Given the description of an element on the screen output the (x, y) to click on. 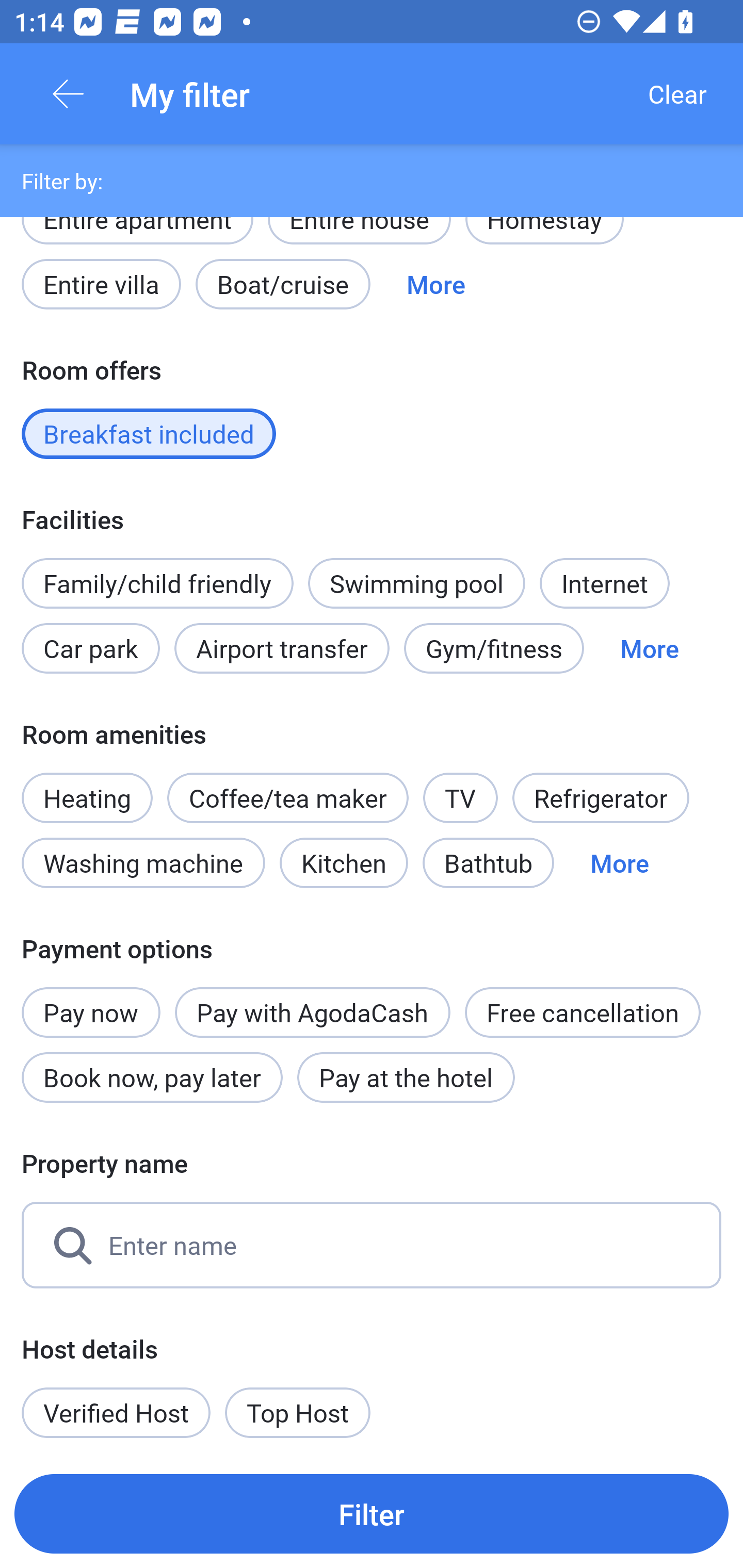
Clear (676, 93)
Entire villa (101, 284)
Boat/cruise (282, 284)
More (435, 284)
Family/child friendly (157, 583)
Swimming pool (416, 583)
Internet (604, 583)
Car park (90, 648)
Airport transfer (281, 648)
Gym/fitness (493, 648)
More (649, 648)
Heating (87, 787)
Coffee/tea maker (287, 798)
TV (460, 798)
Refrigerator (600, 798)
Washing machine (143, 863)
Kitchen (343, 863)
Bathtub (488, 863)
More (619, 863)
Pay now (90, 1001)
Pay with AgodaCash (312, 1012)
Free cancellation (582, 1012)
Book now, pay later (152, 1077)
Pay at the hotel (405, 1077)
Enter name (371, 1244)
Verified Host (115, 1412)
Top Host (297, 1412)
Filter (371, 1513)
